Given the description of an element on the screen output the (x, y) to click on. 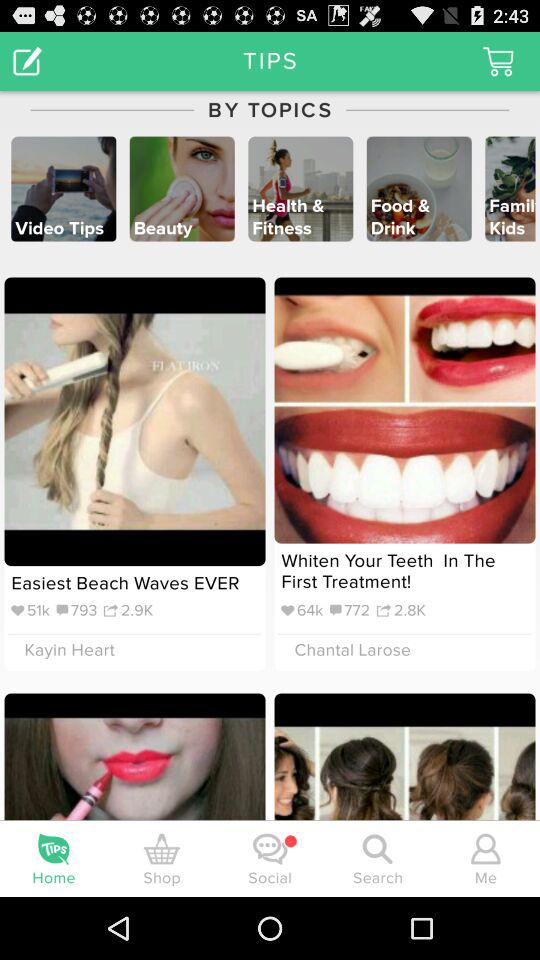
go to cart (498, 60)
